Given the description of an element on the screen output the (x, y) to click on. 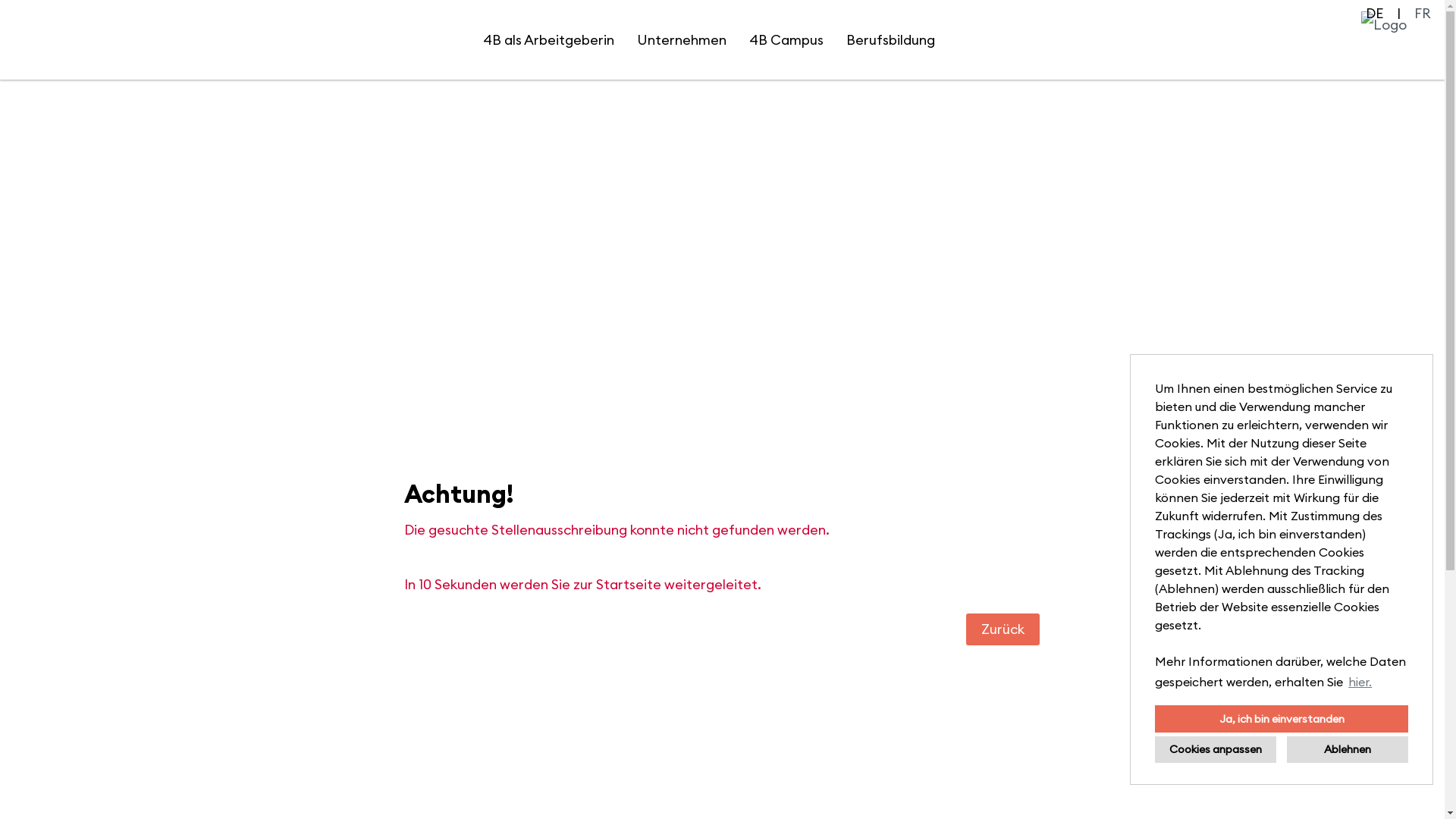
4B Campus Element type: text (785, 40)
FR Element type: text (1422, 12)
4B als Arbeitgeberin Element type: text (548, 40)
Cookies anpassen Element type: text (1215, 748)
hier. Element type: text (1360, 681)
Berufsbildung Element type: text (890, 40)
Ablehnen Element type: text (1347, 748)
Unternehmen Element type: text (681, 40)
Ja, ich bin einverstanden Element type: text (1281, 718)
